Given the description of an element on the screen output the (x, y) to click on. 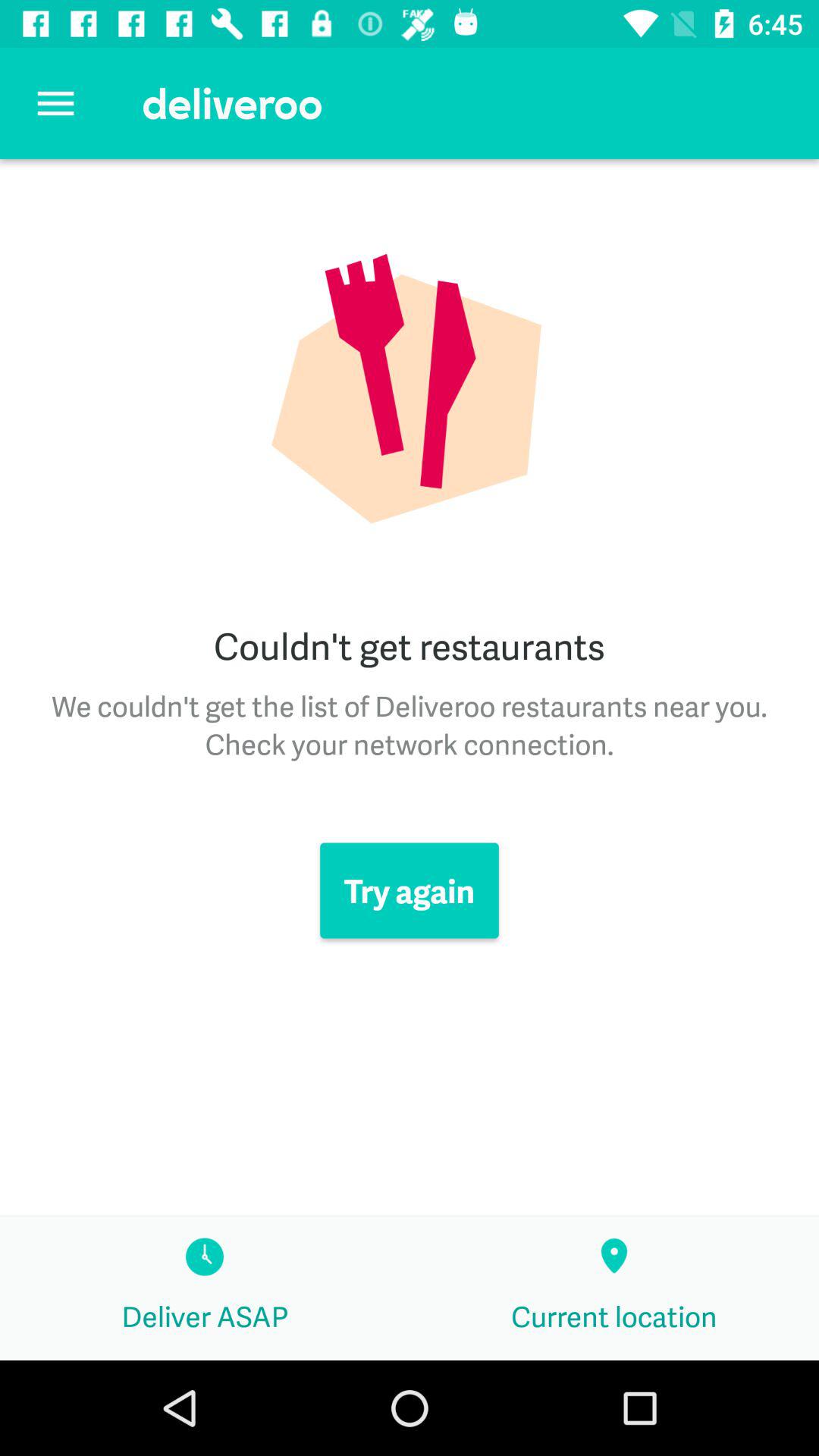
launch the item above we couldn t item (55, 103)
